Given the description of an element on the screen output the (x, y) to click on. 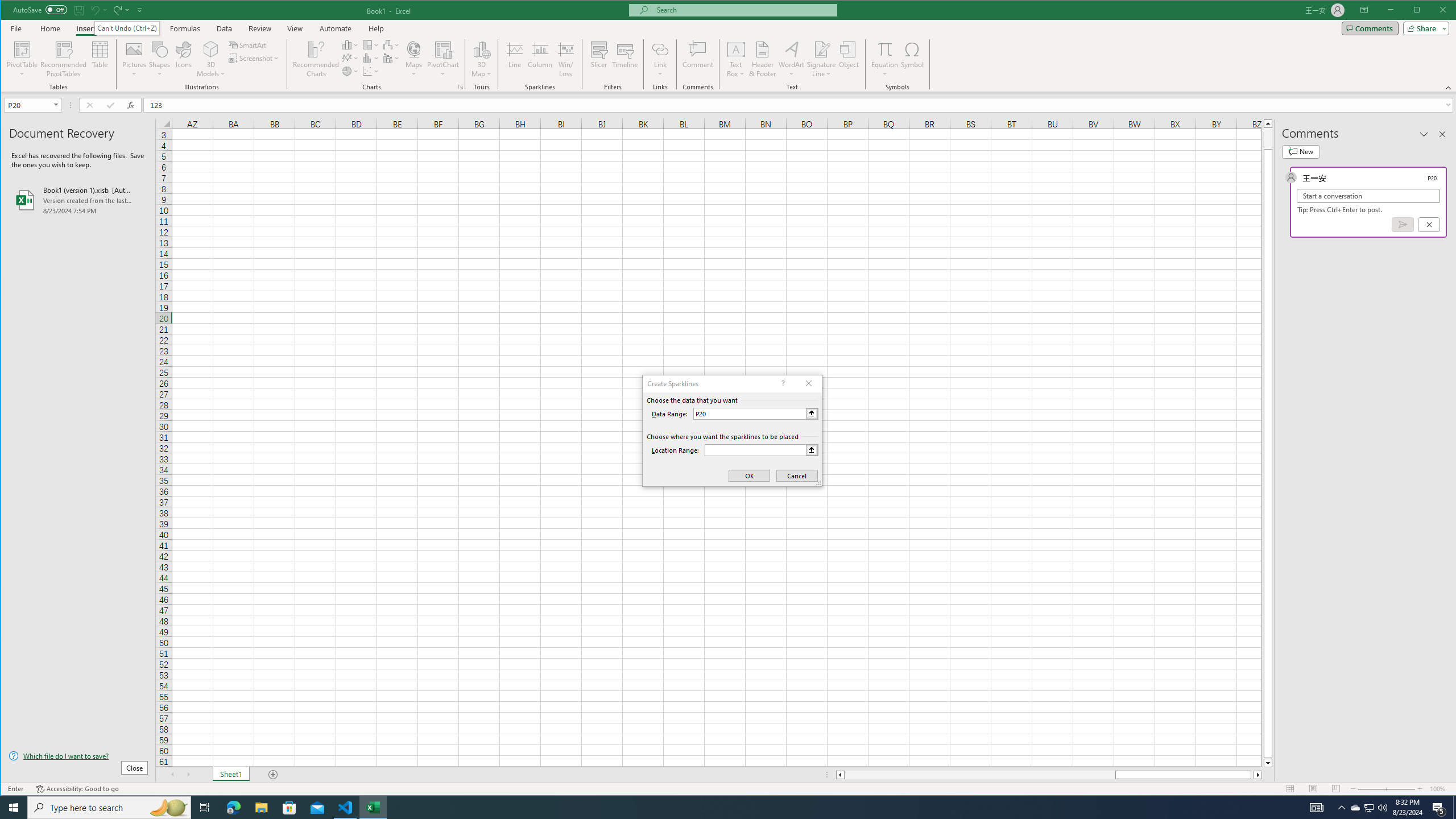
Insert Combo Chart (391, 57)
Signature Line (821, 48)
Equation (884, 59)
Timeline (625, 59)
WordArt (791, 59)
Object... (848, 59)
